Given the description of an element on the screen output the (x, y) to click on. 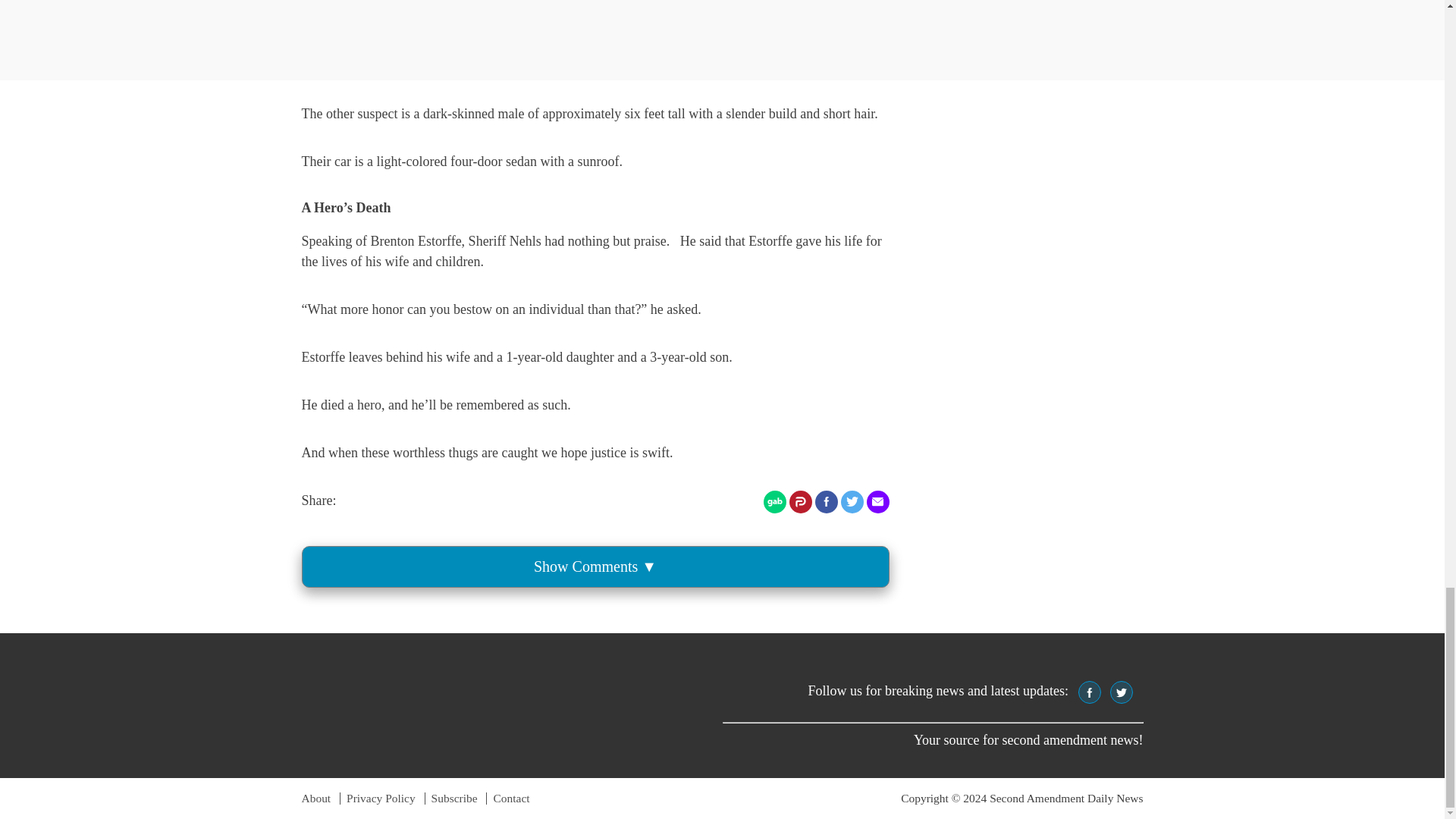
twitter (1120, 691)
Follow us on Twitter (1120, 691)
facebook (1089, 691)
Share on Gab (774, 501)
Share on Facebook (825, 501)
Follow us on Facebook (1089, 691)
About (316, 797)
Share via Email (877, 501)
Share on Parler (799, 501)
twitter (1121, 692)
Share on Twitter (851, 501)
facebook (1089, 692)
